Given the description of an element on the screen output the (x, y) to click on. 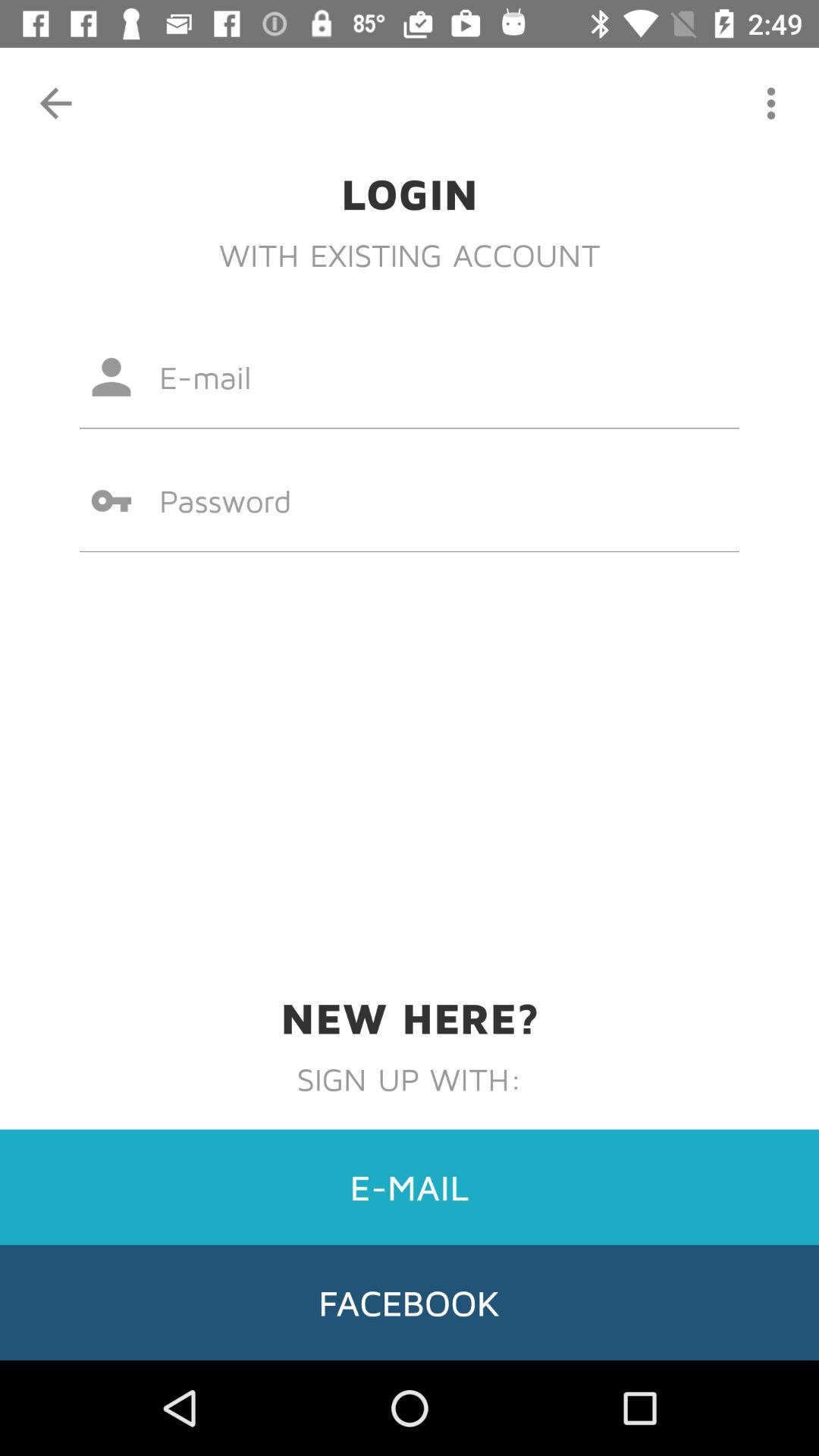
open icon at the center (409, 500)
